Given the description of an element on the screen output the (x, y) to click on. 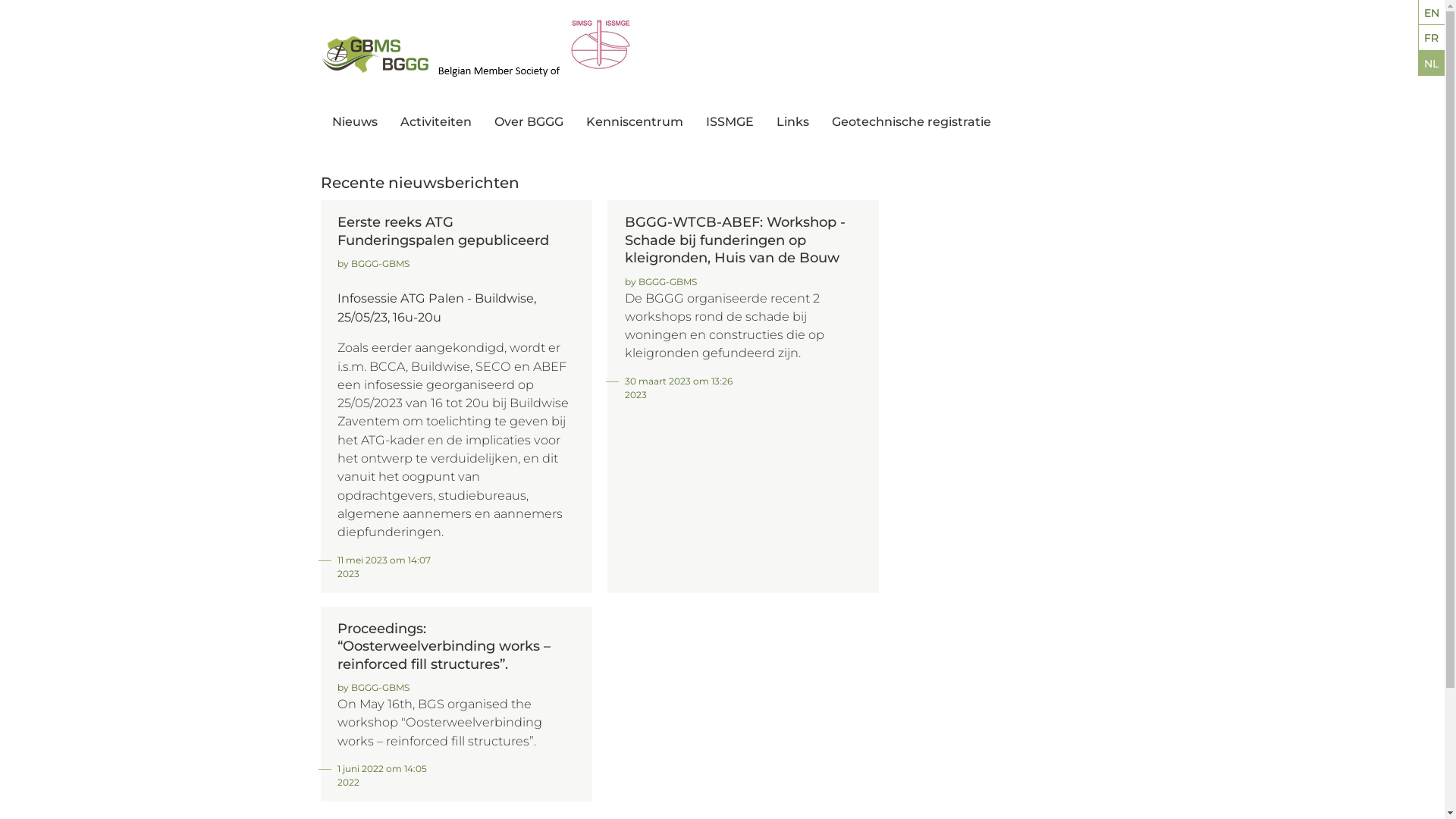
Publiek toegankelijke documenten Element type: text (914, 156)
Voorstelling Element type: text (577, 149)
Activiteiten Element type: text (435, 122)
ISSMGE Element type: text (729, 122)
Back to the homepage Element type: hover (477, 53)
EN
English Element type: text (1431, 12)
Kenniscentrum leden Element type: text (668, 149)
Over BGGG Element type: text (528, 122)
Kenniscentrum Element type: text (633, 122)
Geotechnische registratie Element type: text (910, 122)
NL
Nederlands Element type: text (1431, 63)
Nieuws Element type: text (354, 122)
Links Element type: text (792, 122)
Algemene info Element type: text (914, 149)
Nieuws Element type: text (415, 149)
Publiek toegankelijke documenten Element type: text (668, 156)
